Given the description of an element on the screen output the (x, y) to click on. 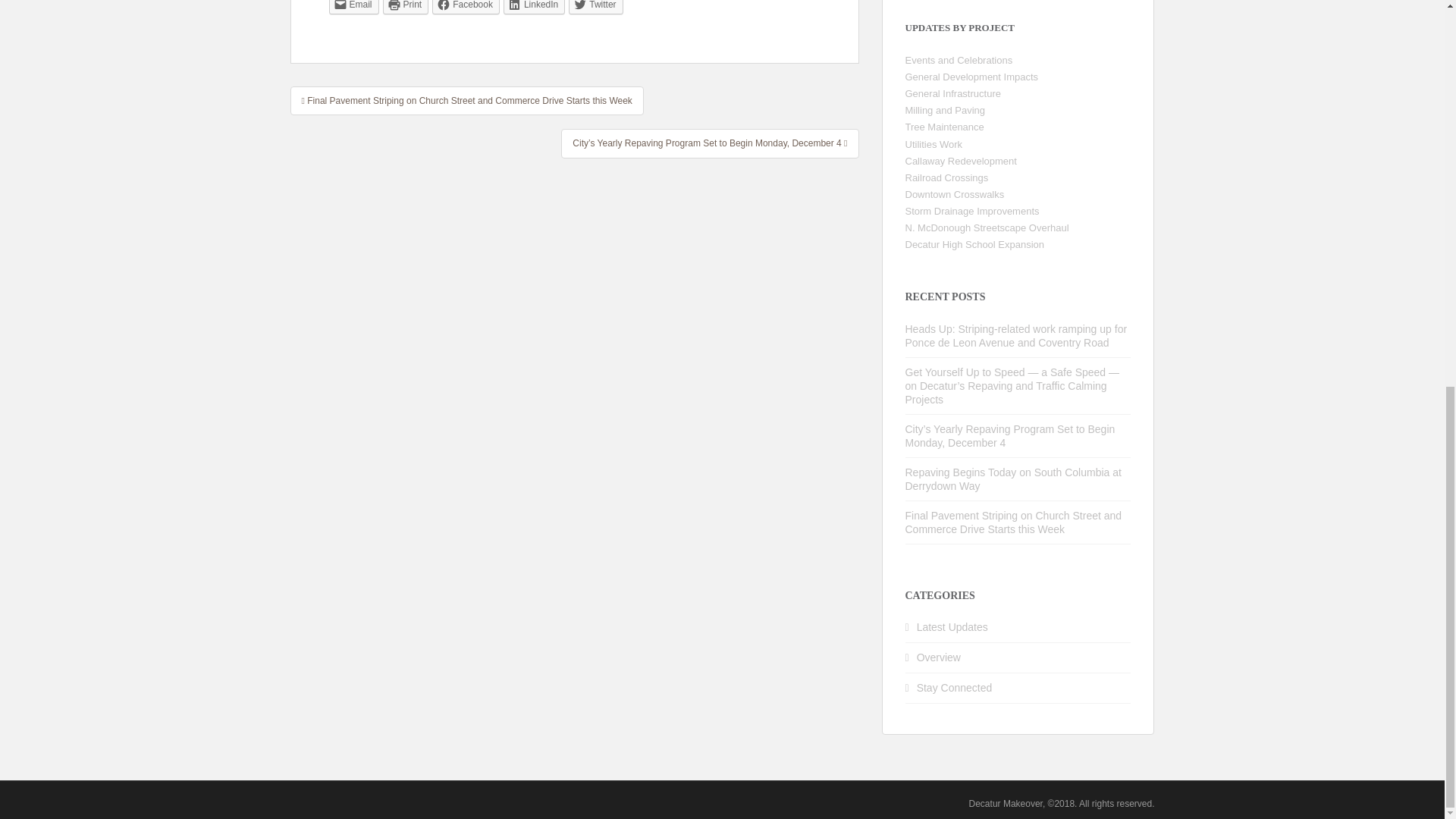
Facebook (465, 7)
Click to share on Facebook (465, 7)
Callaway Redevelopment (960, 161)
Click to share on LinkedIn (533, 7)
Click to share on Twitter (596, 7)
N. McDonough Streetscape Overhaul (986, 227)
Repaving Begins Today on South Columbia at Derrydown Way (1013, 479)
General Development Impacts (972, 76)
Milling and Paving (945, 110)
Storm Drainage Improvements (972, 211)
Print (405, 7)
Email (353, 7)
Click to print (405, 7)
Tree Maintenance (944, 126)
